Given the description of an element on the screen output the (x, y) to click on. 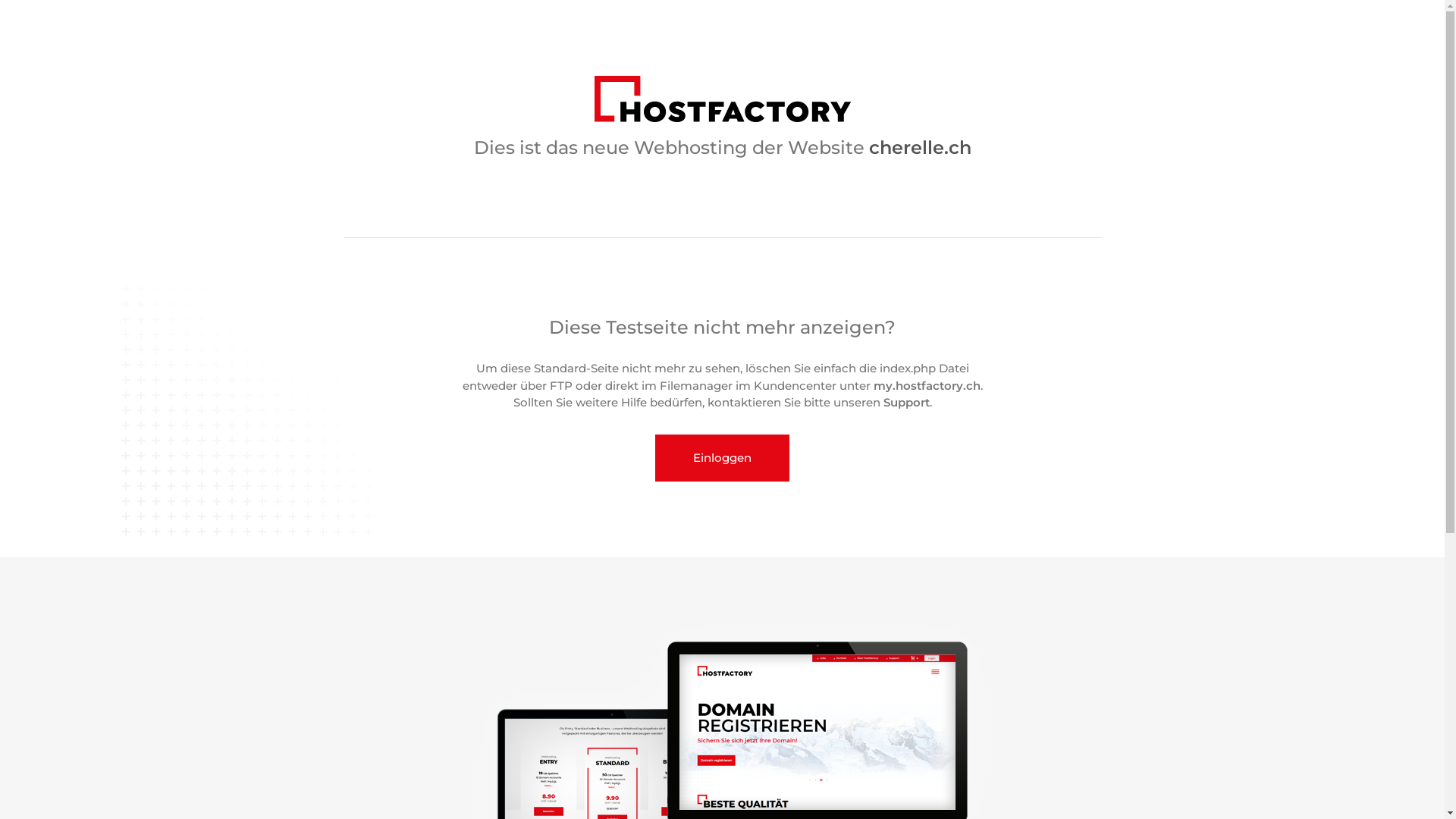
Einloggen Element type: text (722, 458)
Support Element type: text (905, 402)
my.hostfactory.ch Element type: text (926, 385)
cherelle.ch Element type: text (920, 147)
